Given the description of an element on the screen output the (x, y) to click on. 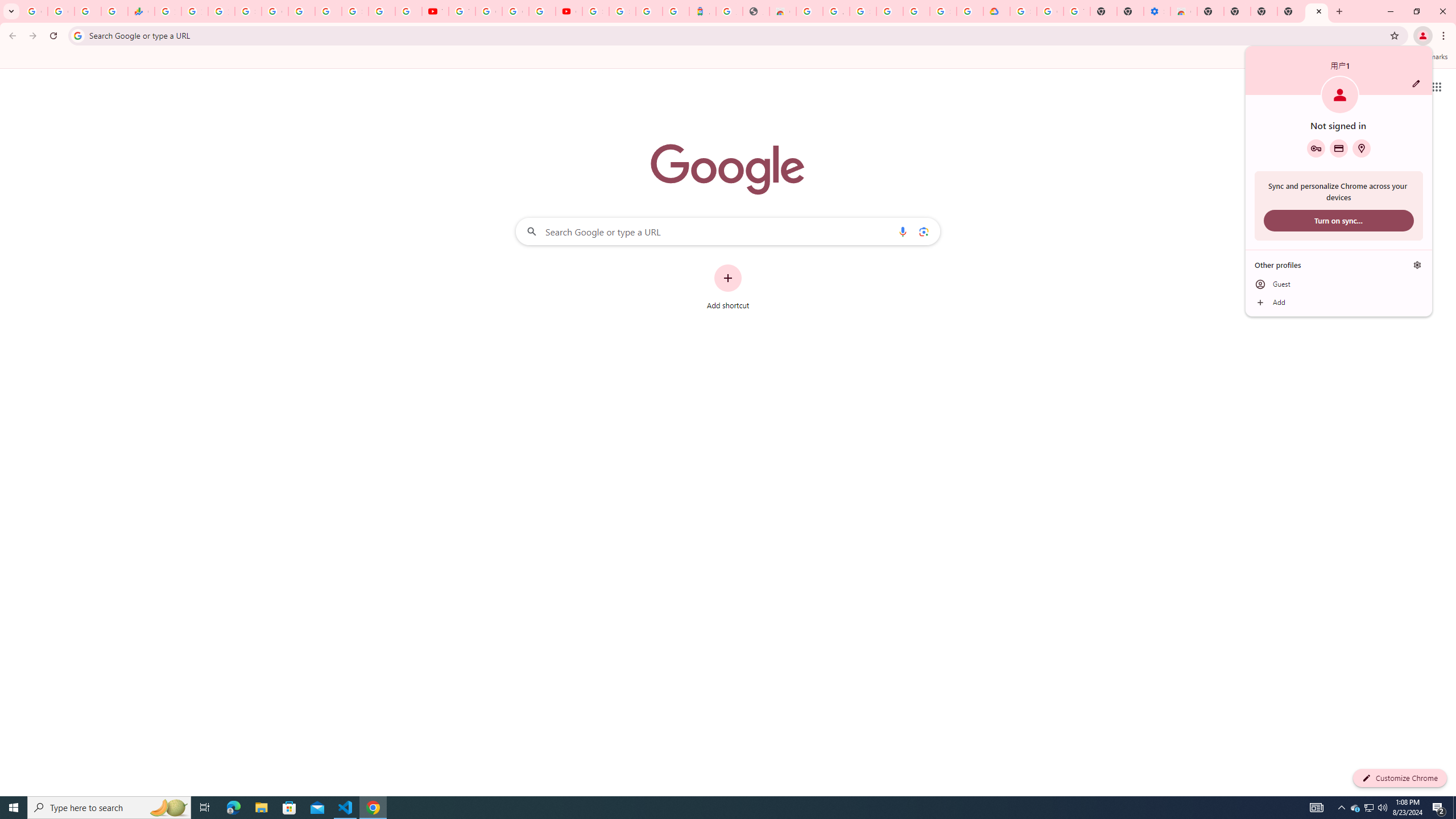
Sign in - Google Accounts (1355, 807)
Create your Google Account (862, 11)
Customize profile (515, 11)
